Given the description of an element on the screen output the (x, y) to click on. 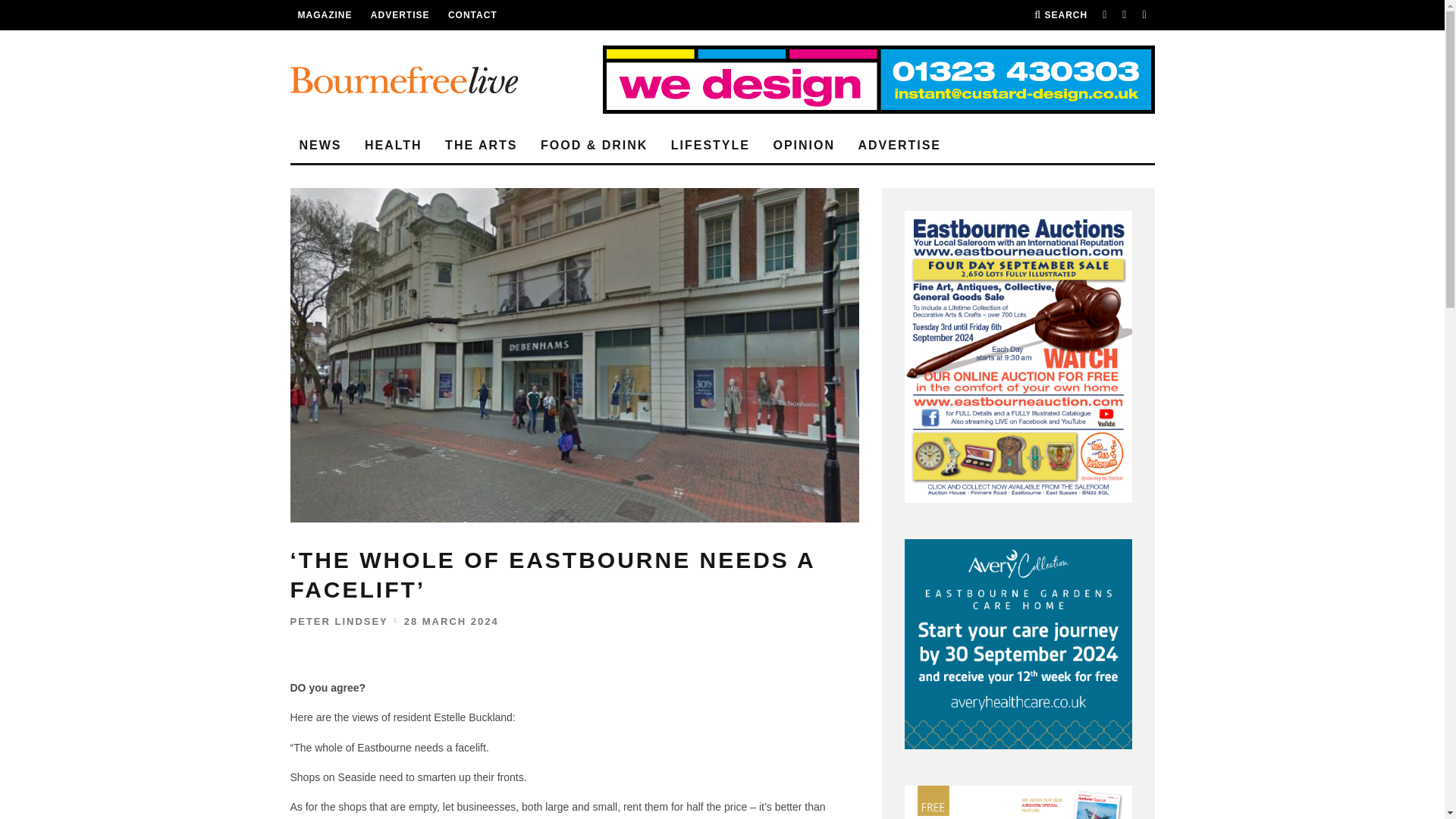
Log In (721, 409)
SEARCH (1060, 15)
LIFESTYLE (710, 145)
ADVERTISE (899, 145)
MAGAZINE (324, 15)
HEALTH (392, 145)
NEWS (319, 145)
CONTACT (472, 15)
THE ARTS (480, 145)
Search (1060, 15)
OPINION (803, 145)
PETER LINDSEY (338, 621)
ADVERTISE (400, 15)
